Given the description of an element on the screen output the (x, y) to click on. 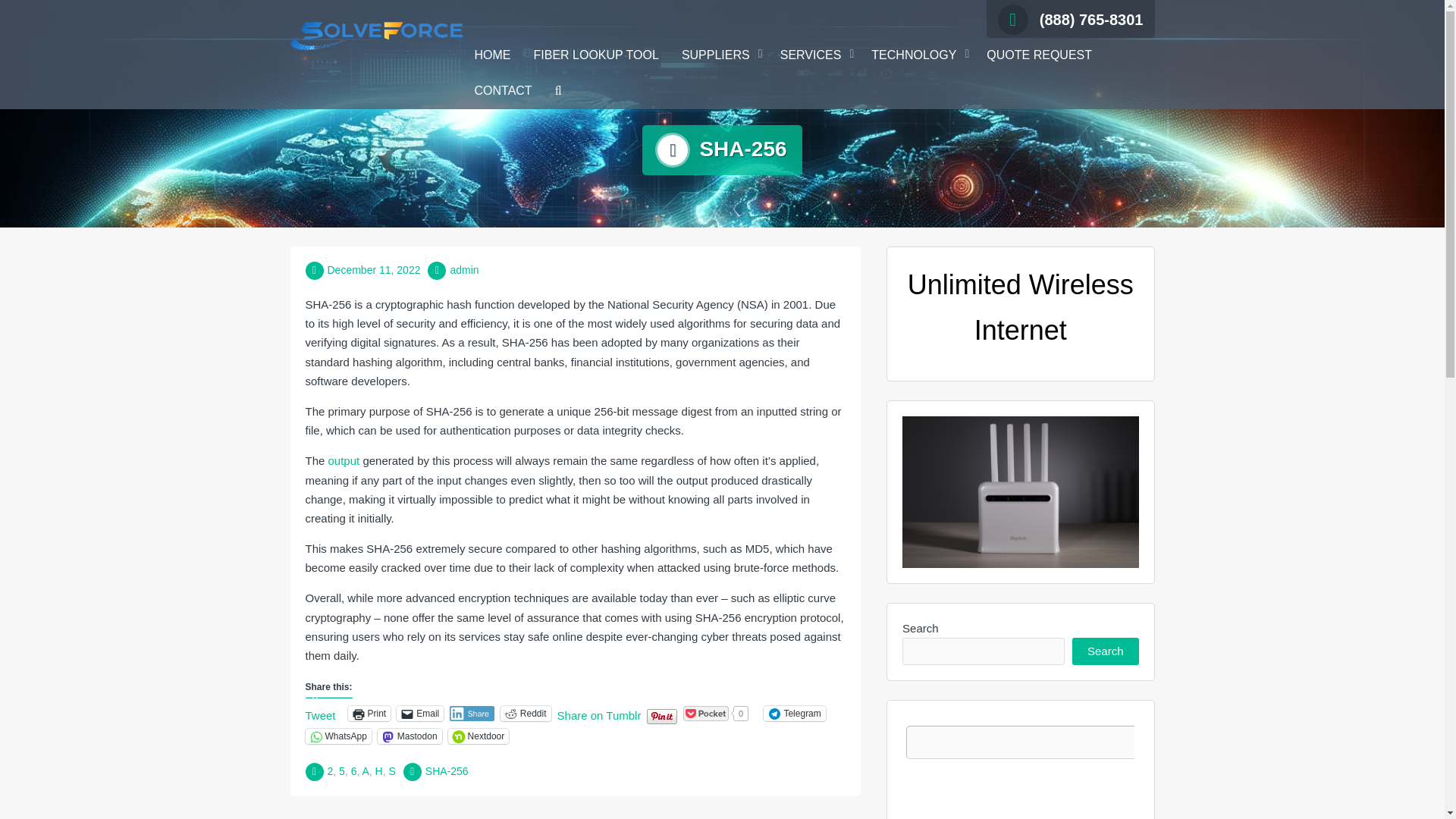
December 11, 2022 (373, 269)
SUPPLIERS (718, 55)
Click to print (369, 713)
CarrierFinder (1020, 767)
CONTACT (503, 90)
QUOTE REQUEST (1039, 55)
Click to share on Telegram (793, 713)
output (344, 460)
Search (802, 333)
Click to share on Reddit (525, 713)
Click to email a link to a friend (420, 713)
SERVICES (814, 55)
Click to share on Mastodon (409, 735)
TECHNOLOGY (917, 55)
HOME (492, 55)
